Given the description of an element on the screen output the (x, y) to click on. 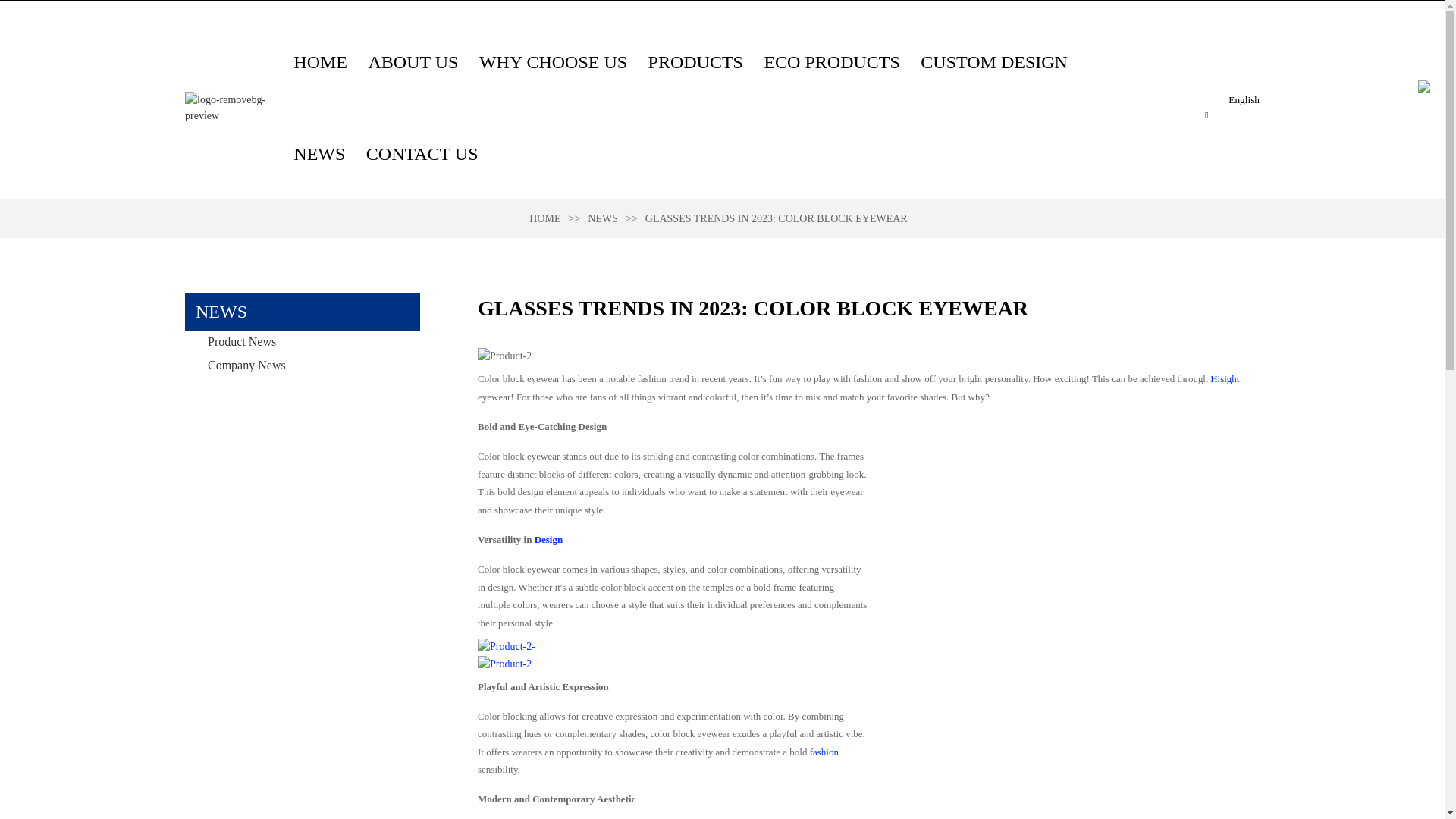
Company News (302, 364)
CONTACT US (422, 153)
GLASSES TRENDS IN 2023: COLOR BLOCK EYEWEAR (776, 218)
NEWS (602, 218)
NEWS (319, 153)
HOME (320, 60)
ECO PRODUCTS (830, 60)
Product News (302, 341)
fashion (823, 751)
CUSTOM DESIGN (993, 60)
